Given the description of an element on the screen output the (x, y) to click on. 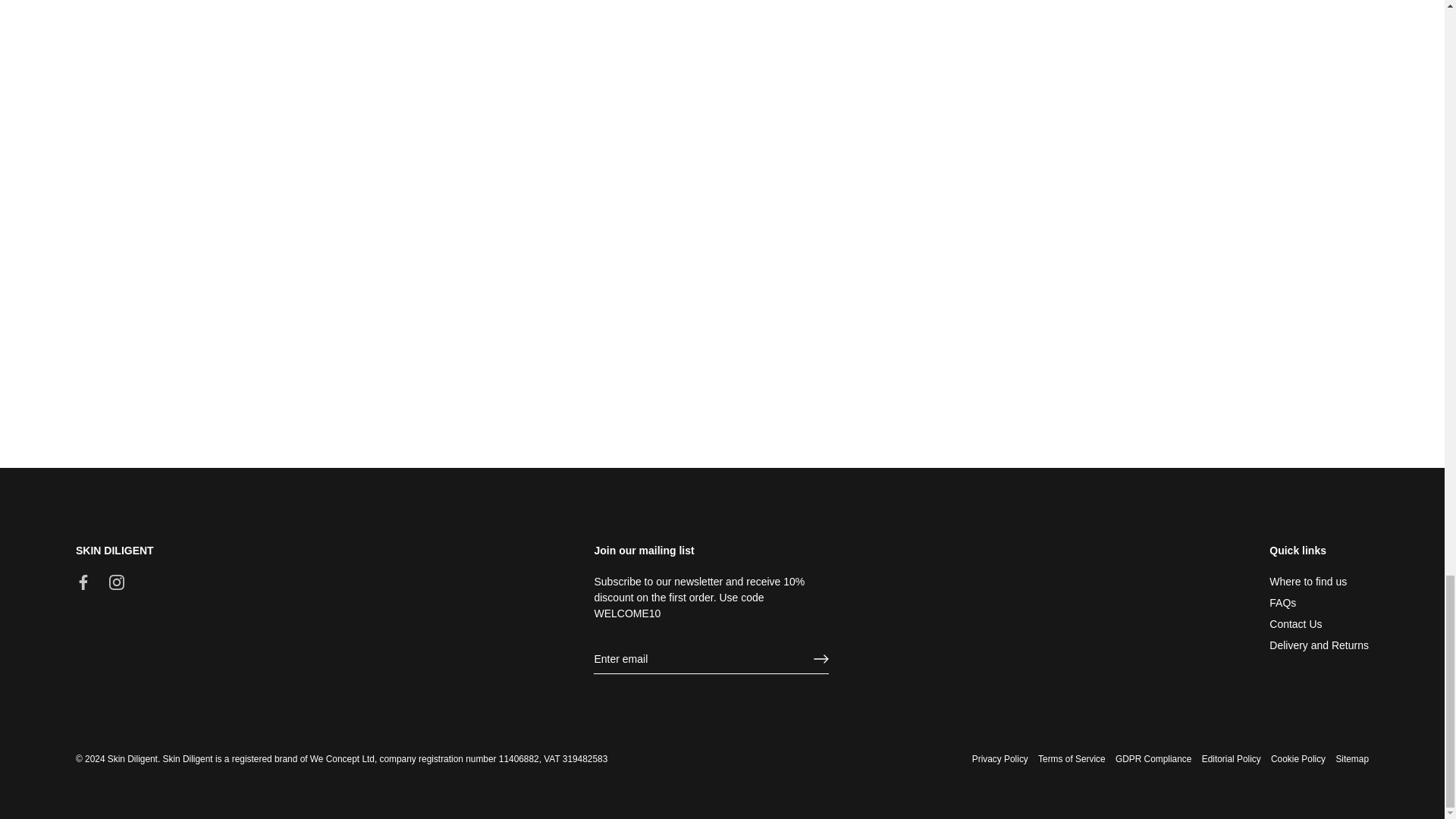
Instagram (116, 581)
RIGHT ARROW LONG (820, 658)
